Given the description of an element on the screen output the (x, y) to click on. 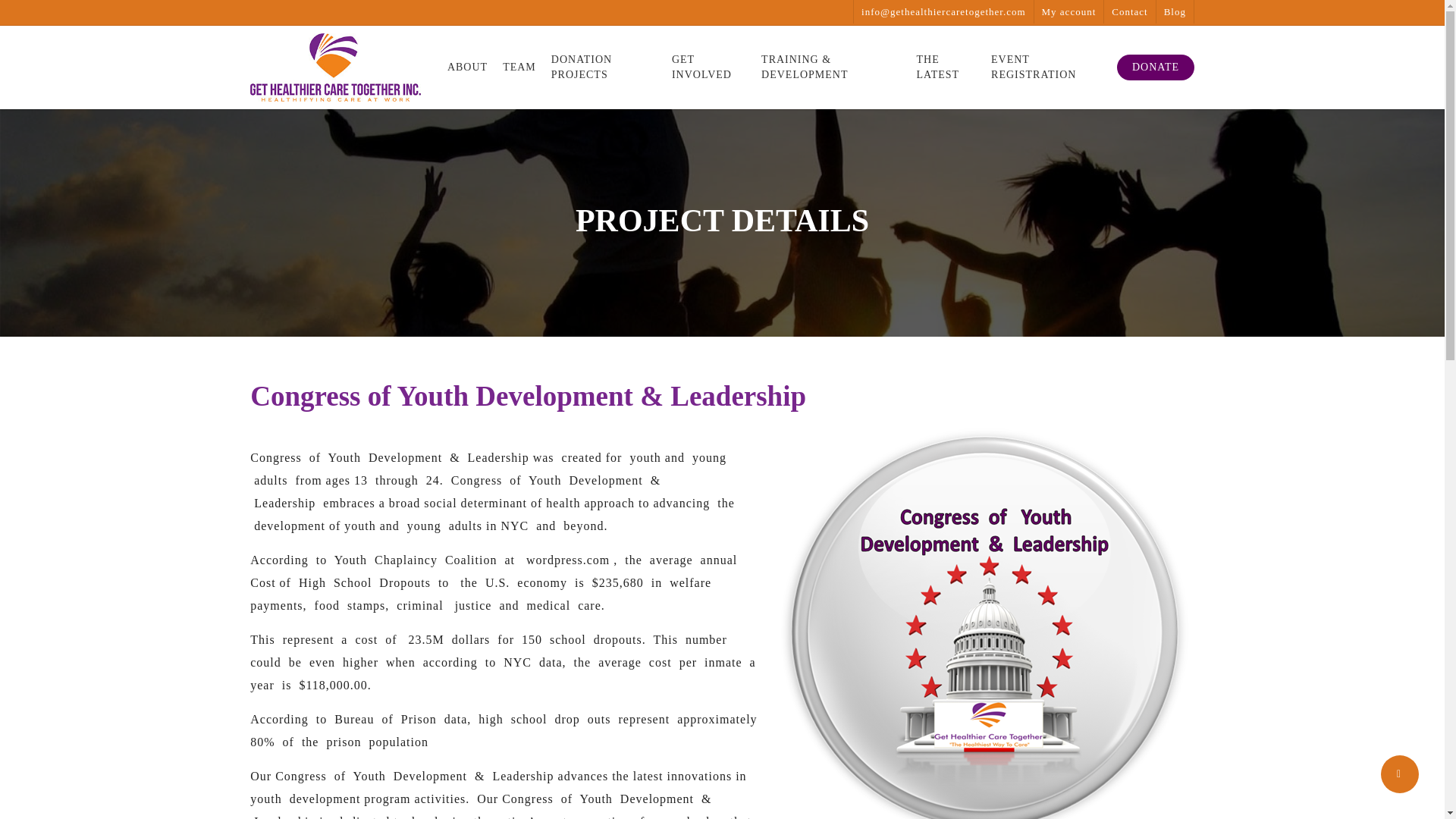
DONATE (1154, 67)
EVENT REGISTRATION (1046, 67)
TEAM (518, 67)
GET INVOLVED (708, 67)
My account (1068, 11)
Contact (1128, 11)
ABOUT (466, 67)
DONATION PROJECTS (603, 67)
Blog (1174, 11)
THE LATEST (946, 67)
